Given the description of an element on the screen output the (x, y) to click on. 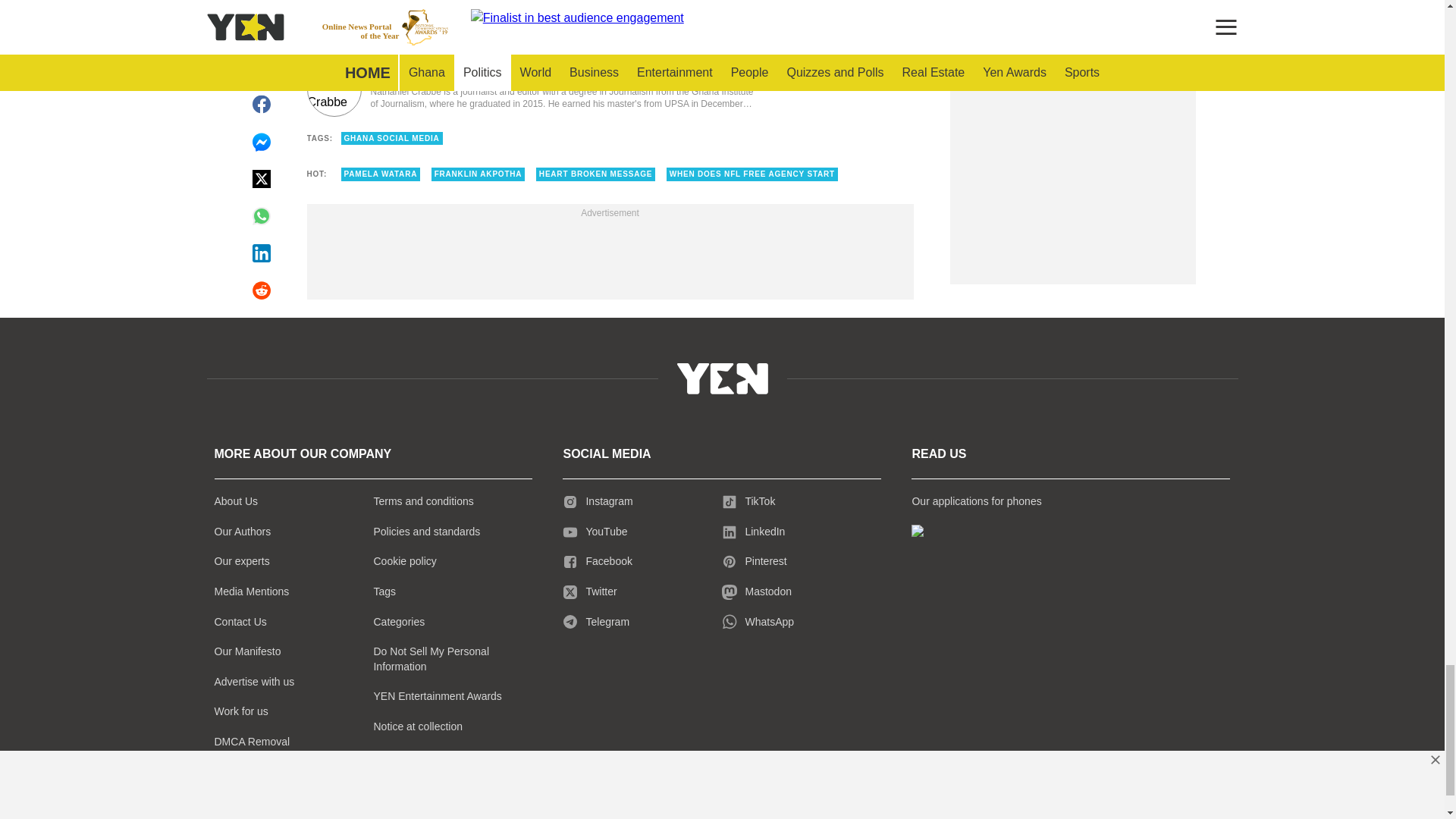
Author page (533, 89)
